Given the description of an element on the screen output the (x, y) to click on. 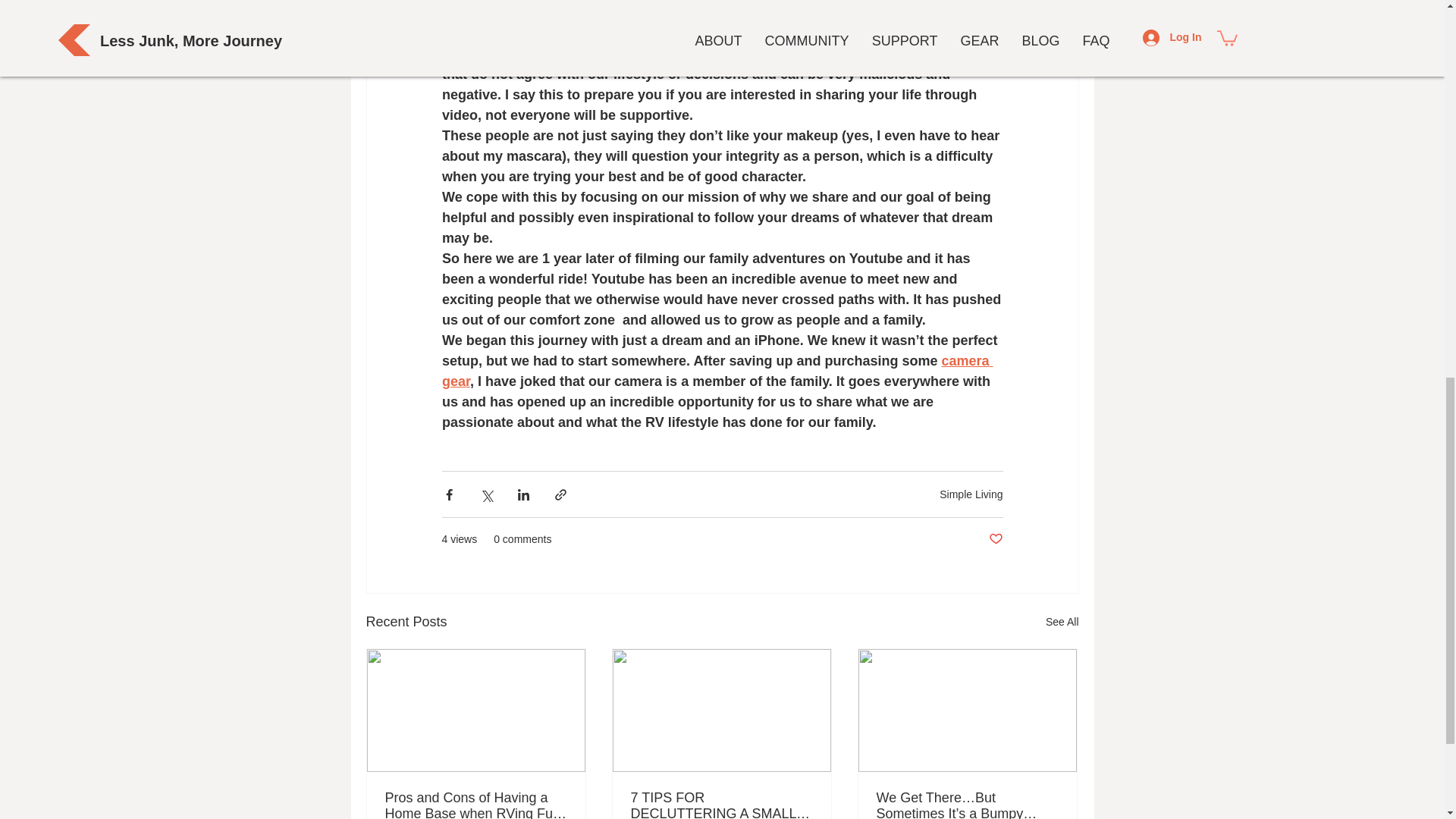
Post not marked as liked (995, 539)
Simple Living (971, 494)
camera gear (716, 370)
